Given the description of an element on the screen output the (x, y) to click on. 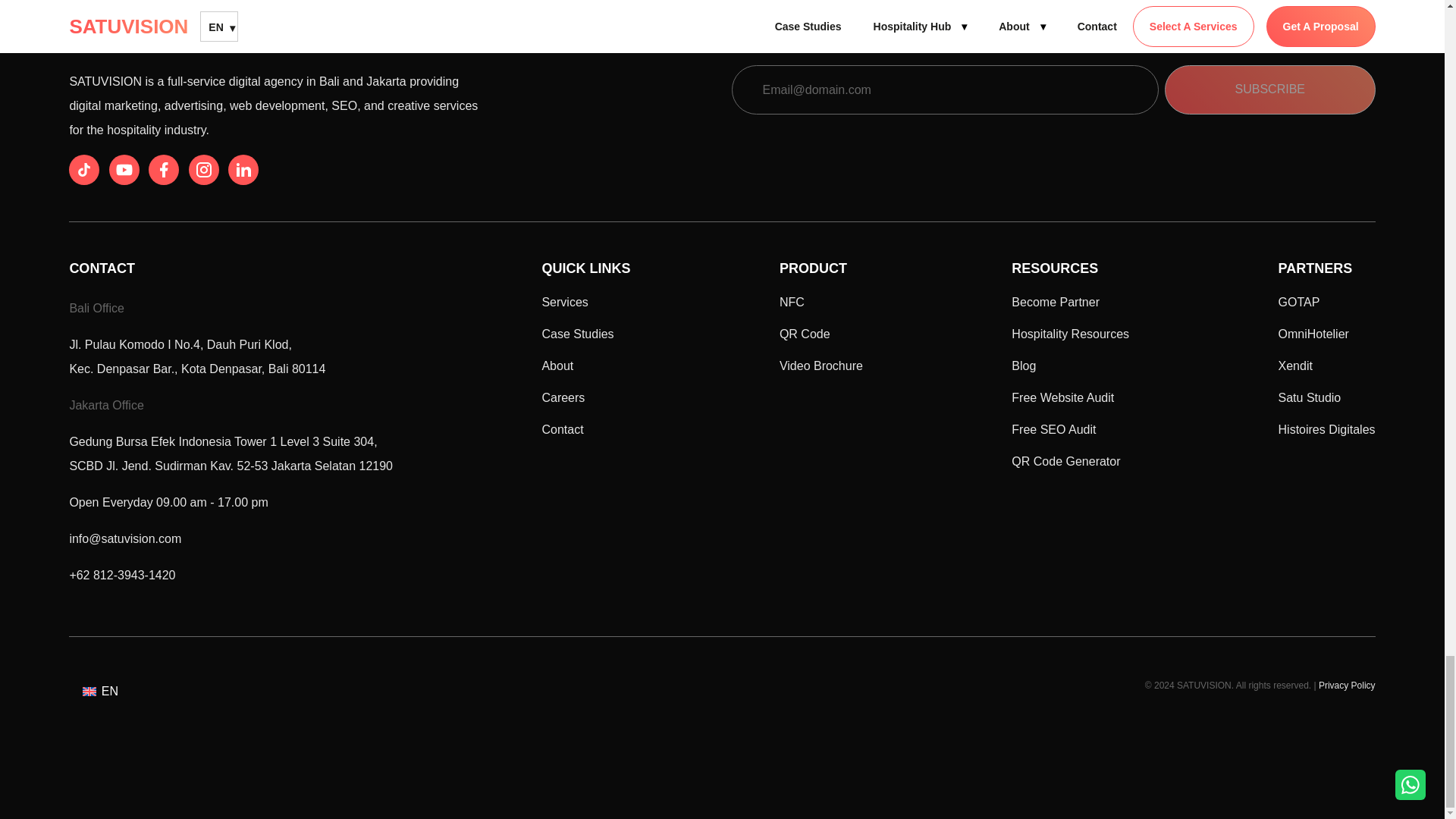
Subscribe (1269, 89)
